Given the description of an element on the screen output the (x, y) to click on. 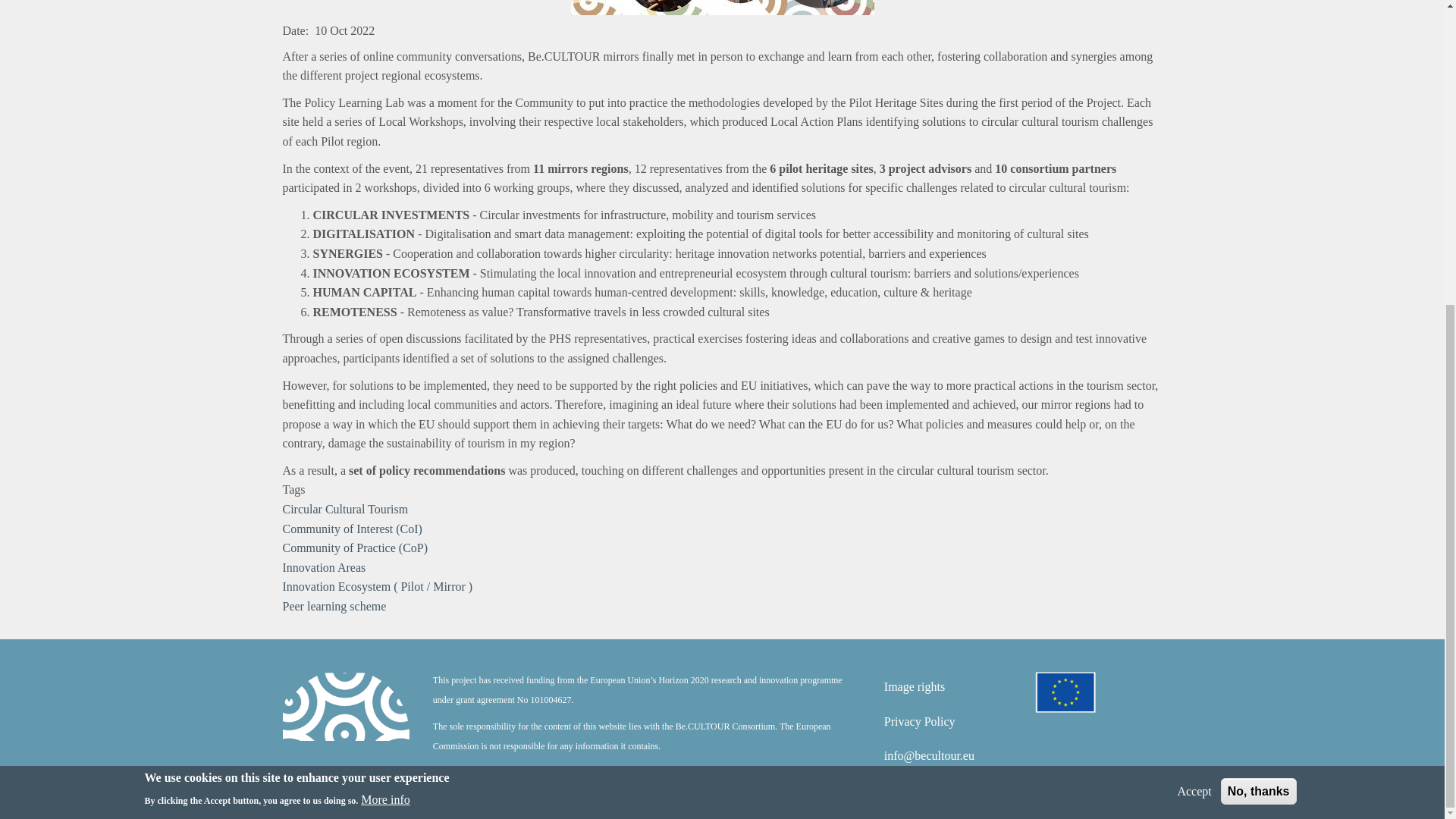
Image rights (913, 686)
Peer learning scheme (333, 605)
More info (385, 322)
Privacy Policy (919, 721)
Innovation Areas (323, 567)
Circular Cultural Tourism (344, 508)
